Given the description of an element on the screen output the (x, y) to click on. 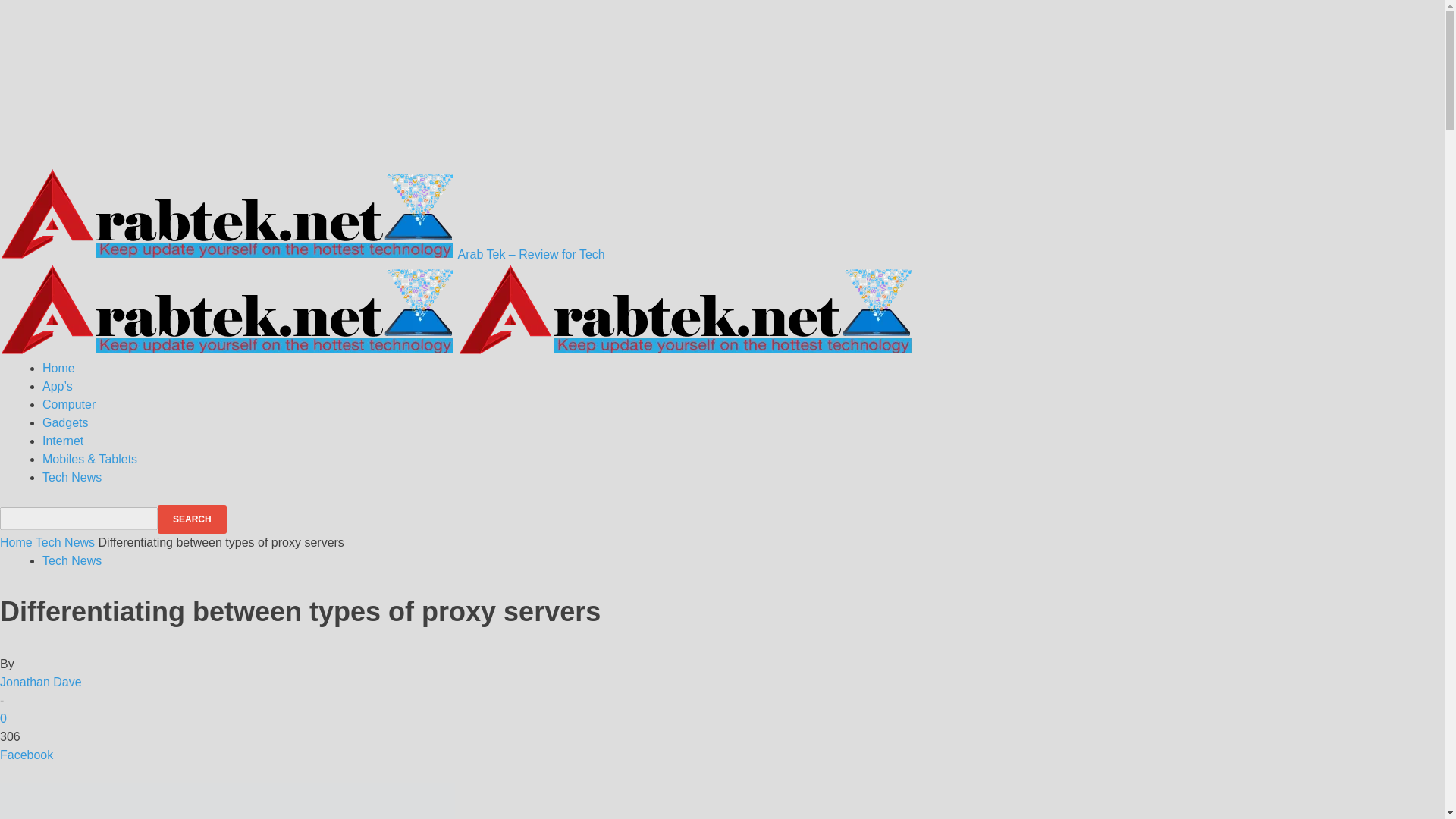
proxy (227, 800)
Tech News (64, 542)
Gadgets (64, 422)
Tech News (71, 477)
Home (58, 367)
Search (192, 519)
Search (192, 519)
Internet (62, 440)
Computer (69, 404)
Tech News (71, 560)
